Given the description of an element on the screen output the (x, y) to click on. 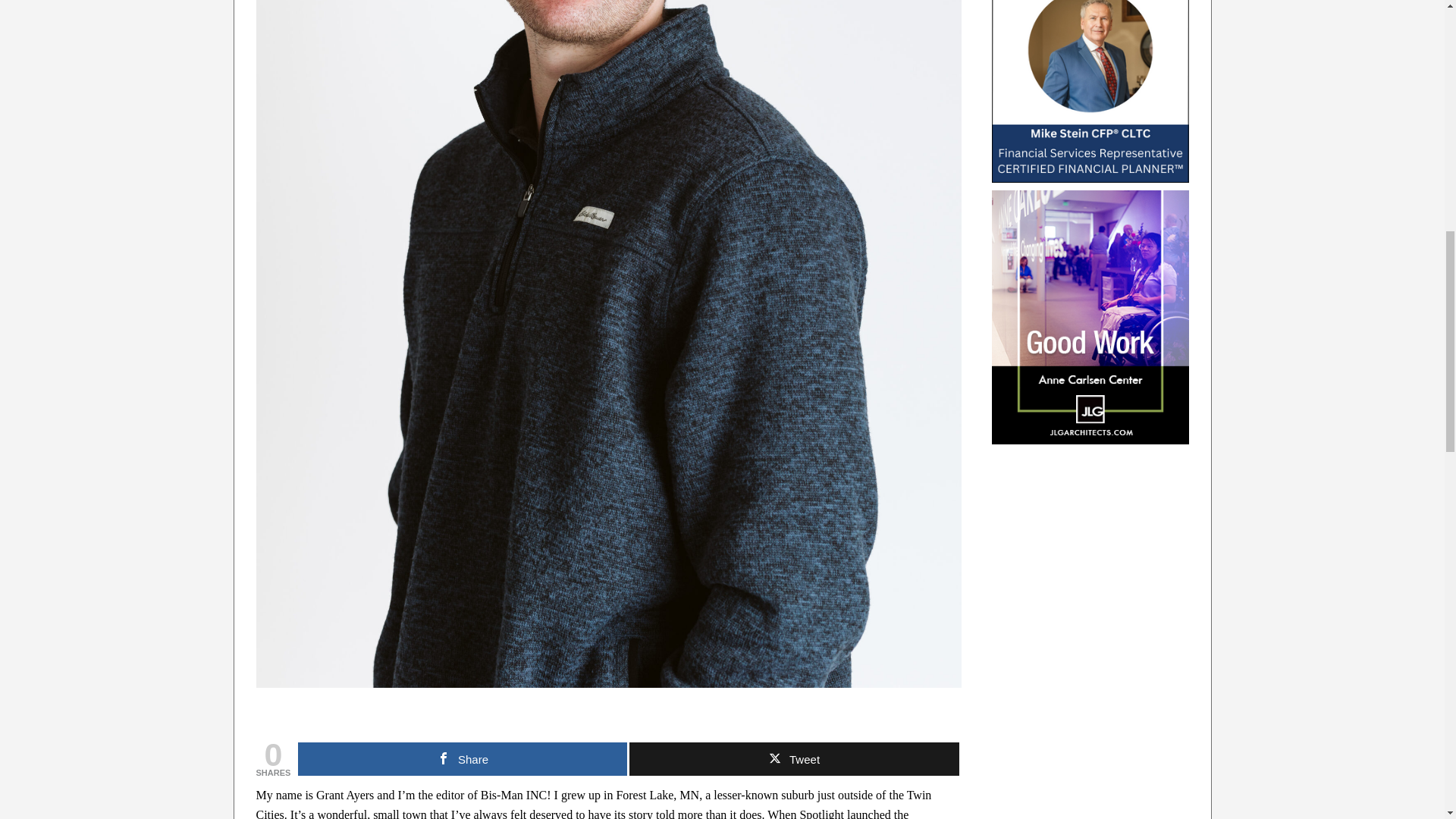
MassMutual - BMI Sidebar (1090, 91)
Share (1396, 20)
Tweet (462, 758)
